Given the description of an element on the screen output the (x, y) to click on. 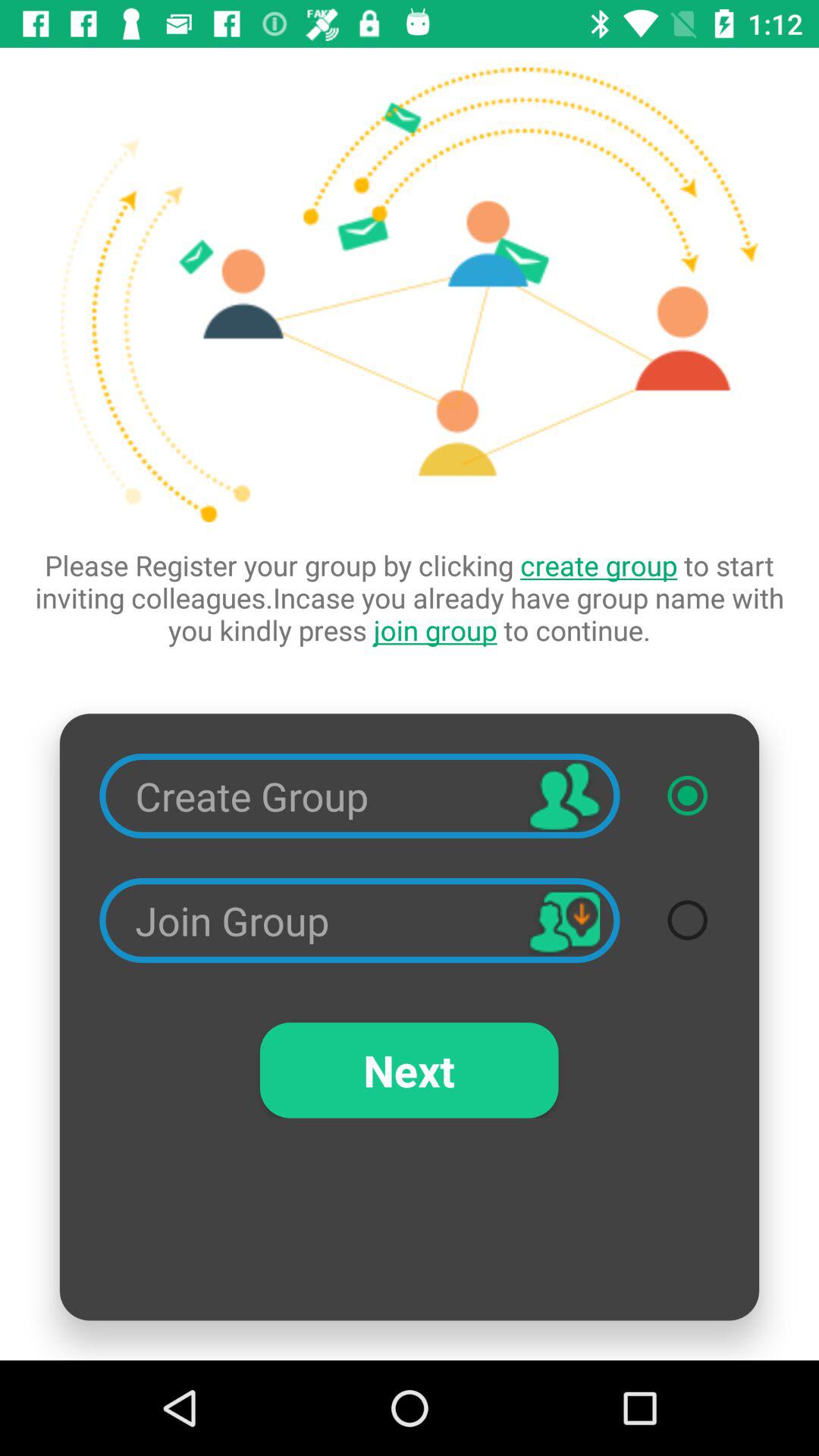
toggle create group option (687, 795)
